Given the description of an element on the screen output the (x, y) to click on. 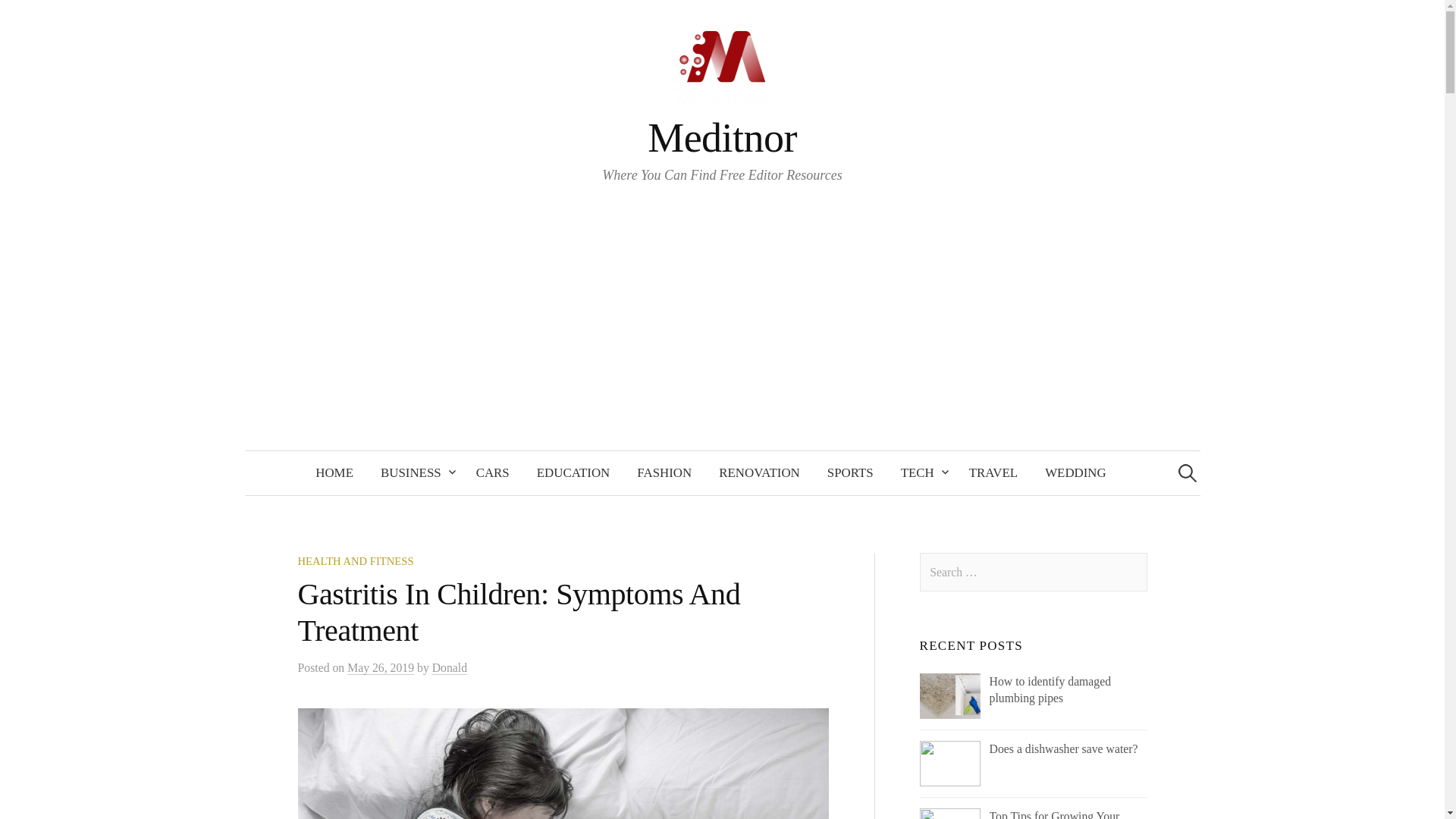
Search (18, 18)
RENOVATION (758, 473)
CARS (492, 473)
TECH (920, 473)
HEALTH AND FITNESS (355, 561)
SPORTS (849, 473)
FASHION (663, 473)
View all posts by Donald (449, 667)
Donald (449, 667)
May 26, 2019 (380, 667)
TRAVEL (992, 473)
BUSINESS (414, 473)
HOME (333, 473)
WEDDING (1074, 473)
Meditnor (721, 137)
